Given the description of an element on the screen output the (x, y) to click on. 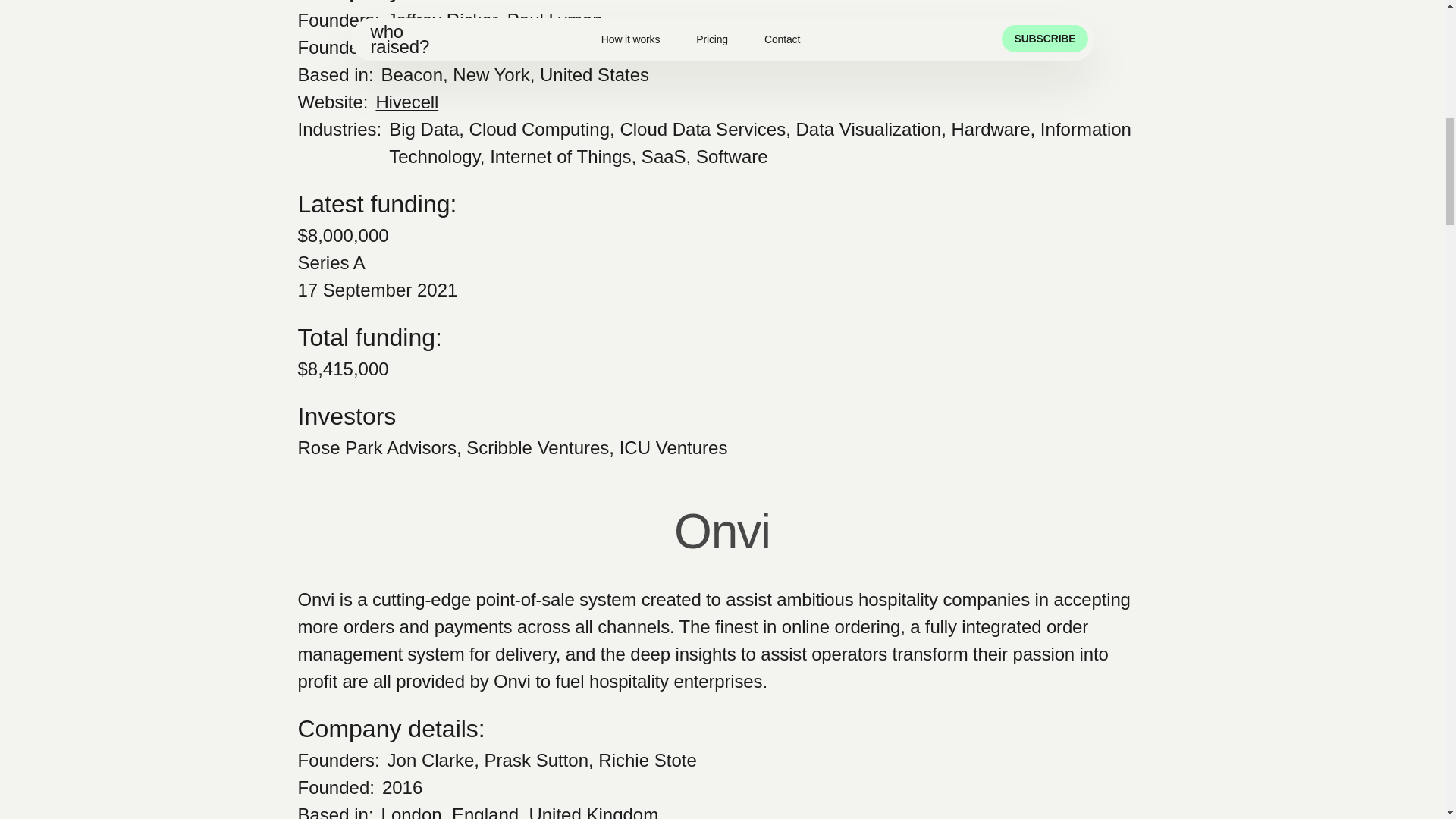
Hivecell (406, 102)
